Given the description of an element on the screen output the (x, y) to click on. 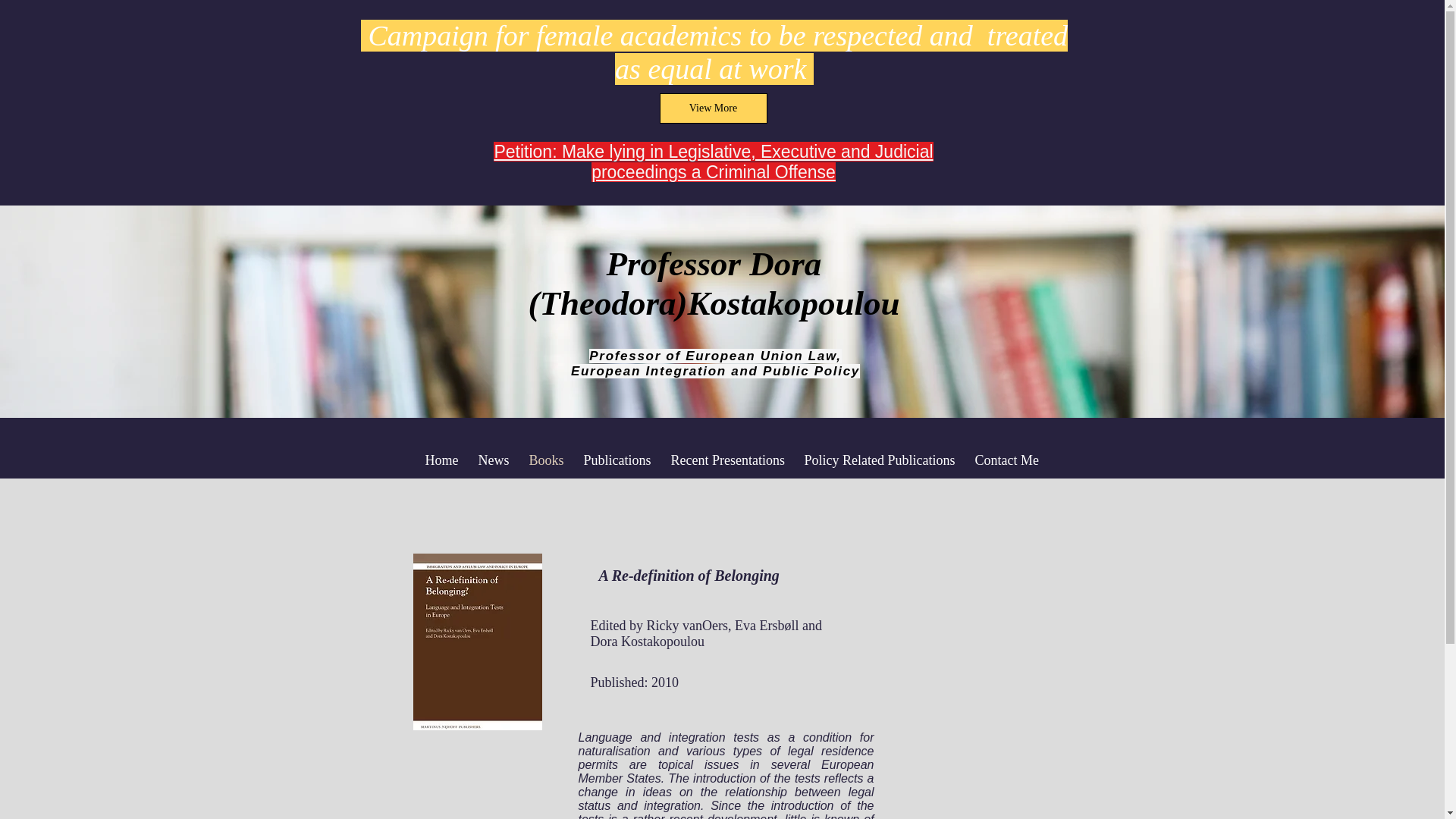
Contact Me (1005, 460)
Publications (617, 460)
View More (713, 108)
Books (545, 460)
Recent Presentations (727, 460)
Policy Related Publications (879, 460)
News (493, 460)
Home (441, 460)
